Given the description of an element on the screen output the (x, y) to click on. 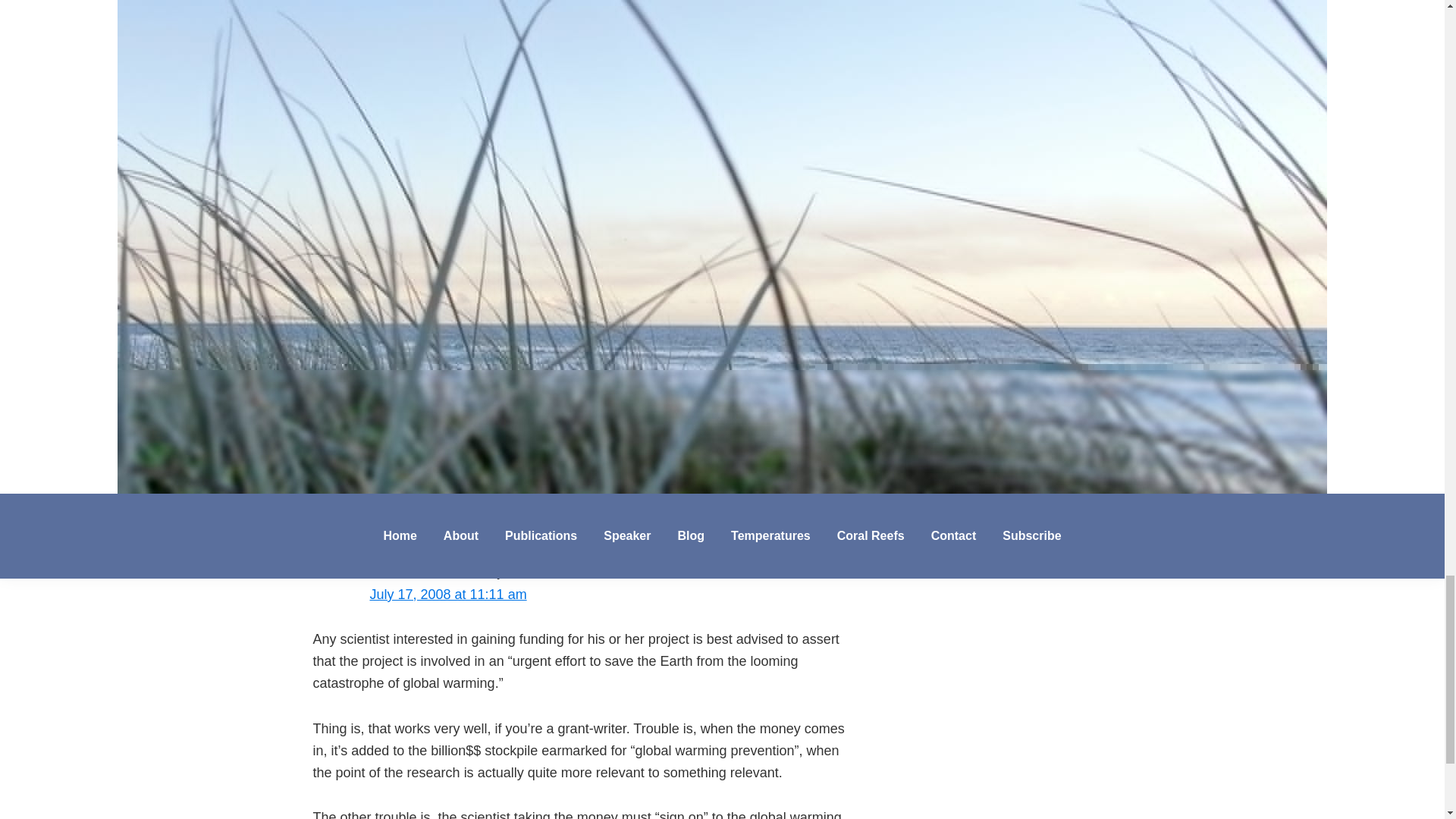
July 17, 2008 at 11:11 am (448, 594)
July 16, 2008 at 6:08 pm (444, 406)
July 16, 2008 at 9:14 am (444, 196)
Paul Biggs (402, 384)
